Given the description of an element on the screen output the (x, y) to click on. 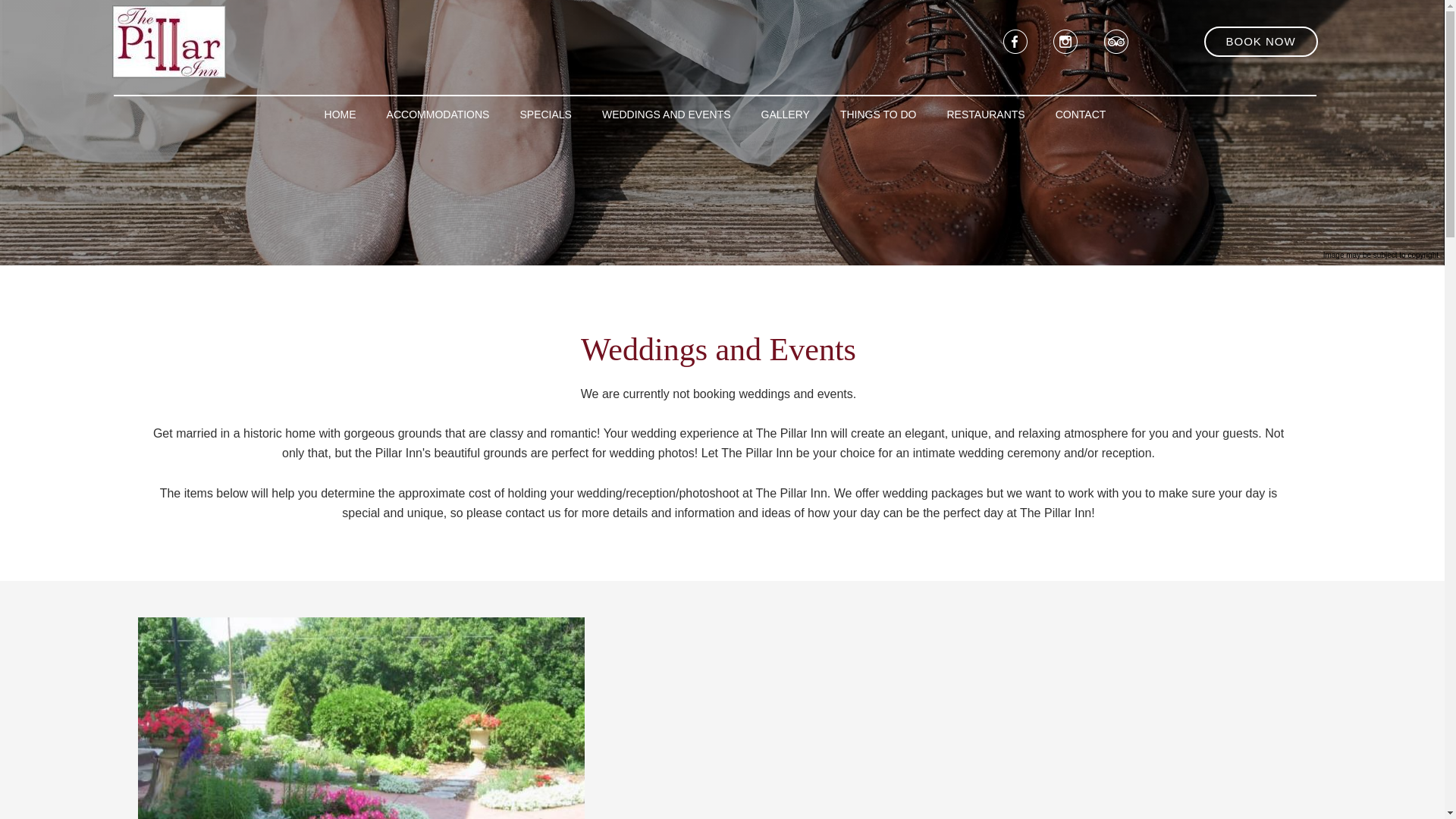
CONTACT (1080, 114)
BOOK NOW (1260, 41)
RESTAURANTS (985, 114)
HOME (340, 114)
THINGS TO DO (878, 114)
GALLERY (785, 114)
ACCOMMODATIONS (438, 114)
walkway in the garden (361, 718)
WEDDINGS AND EVENTS (666, 114)
SPECIALS (544, 114)
